Given the description of an element on the screen output the (x, y) to click on. 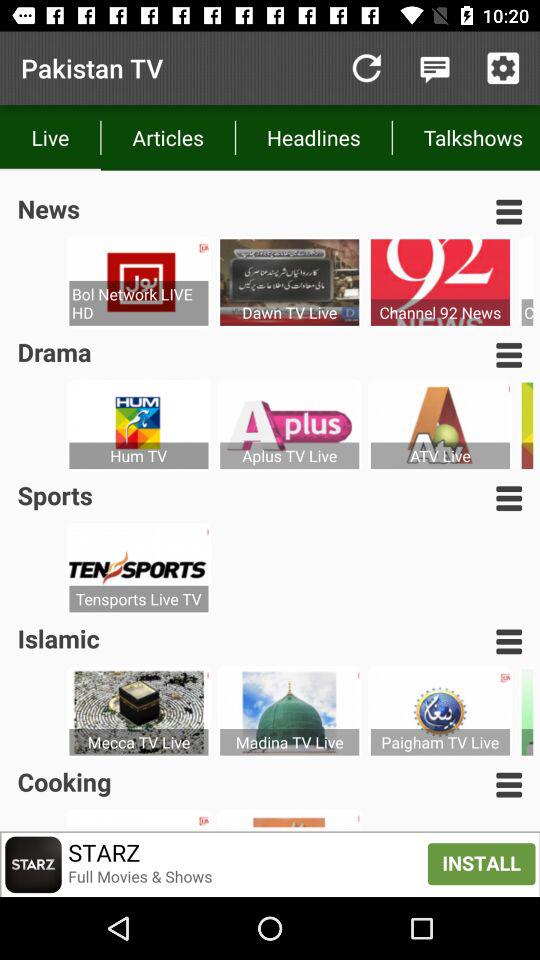
tap atv live item (440, 455)
